Given the description of an element on the screen output the (x, y) to click on. 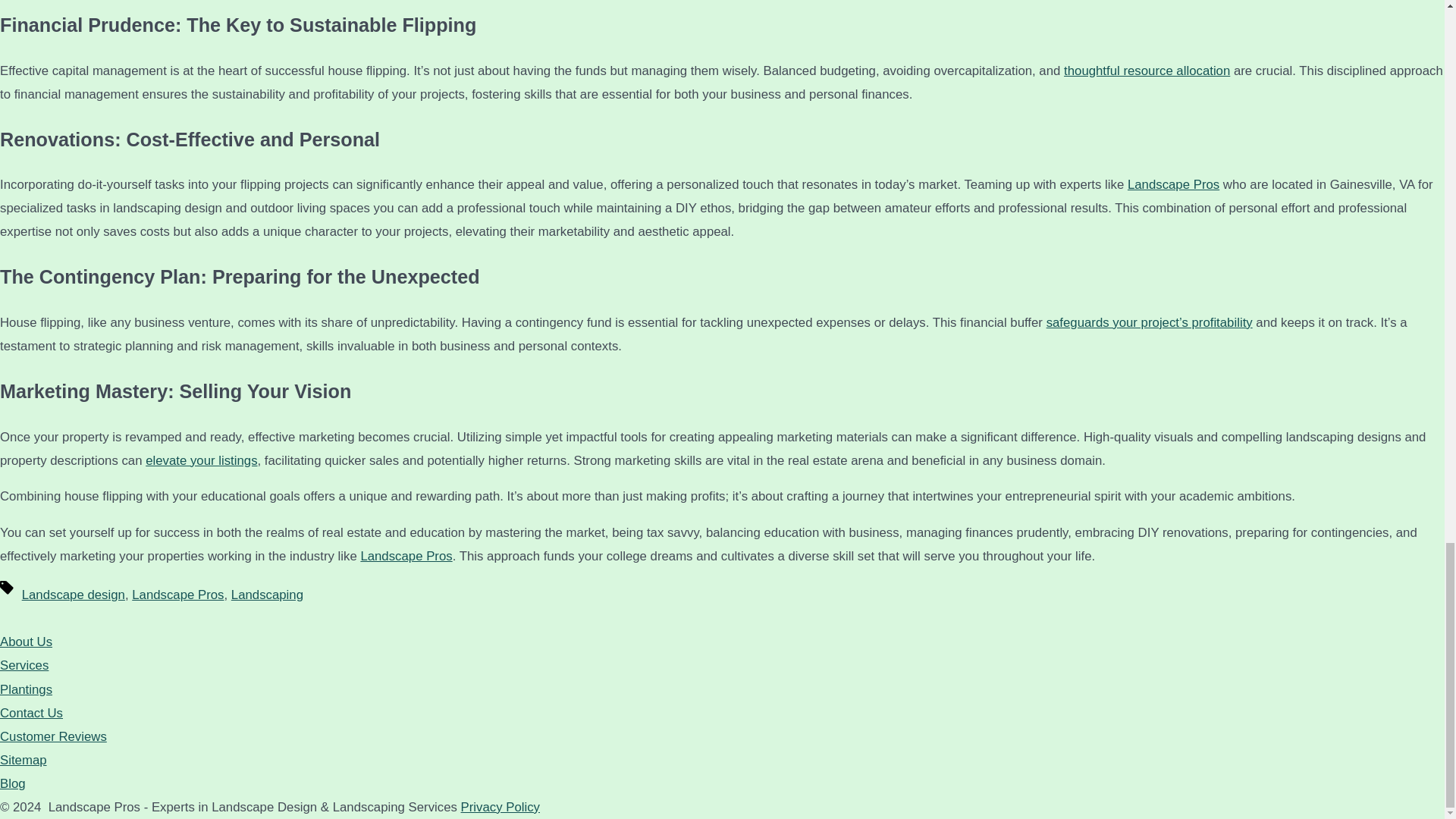
Landscape Pros (405, 555)
Landscape Pros (178, 594)
Landscape Pros (1173, 184)
Landscaping (266, 594)
elevate your listings (201, 460)
Landscape design (73, 594)
thoughtful resource allocation (1147, 70)
